Given the description of an element on the screen output the (x, y) to click on. 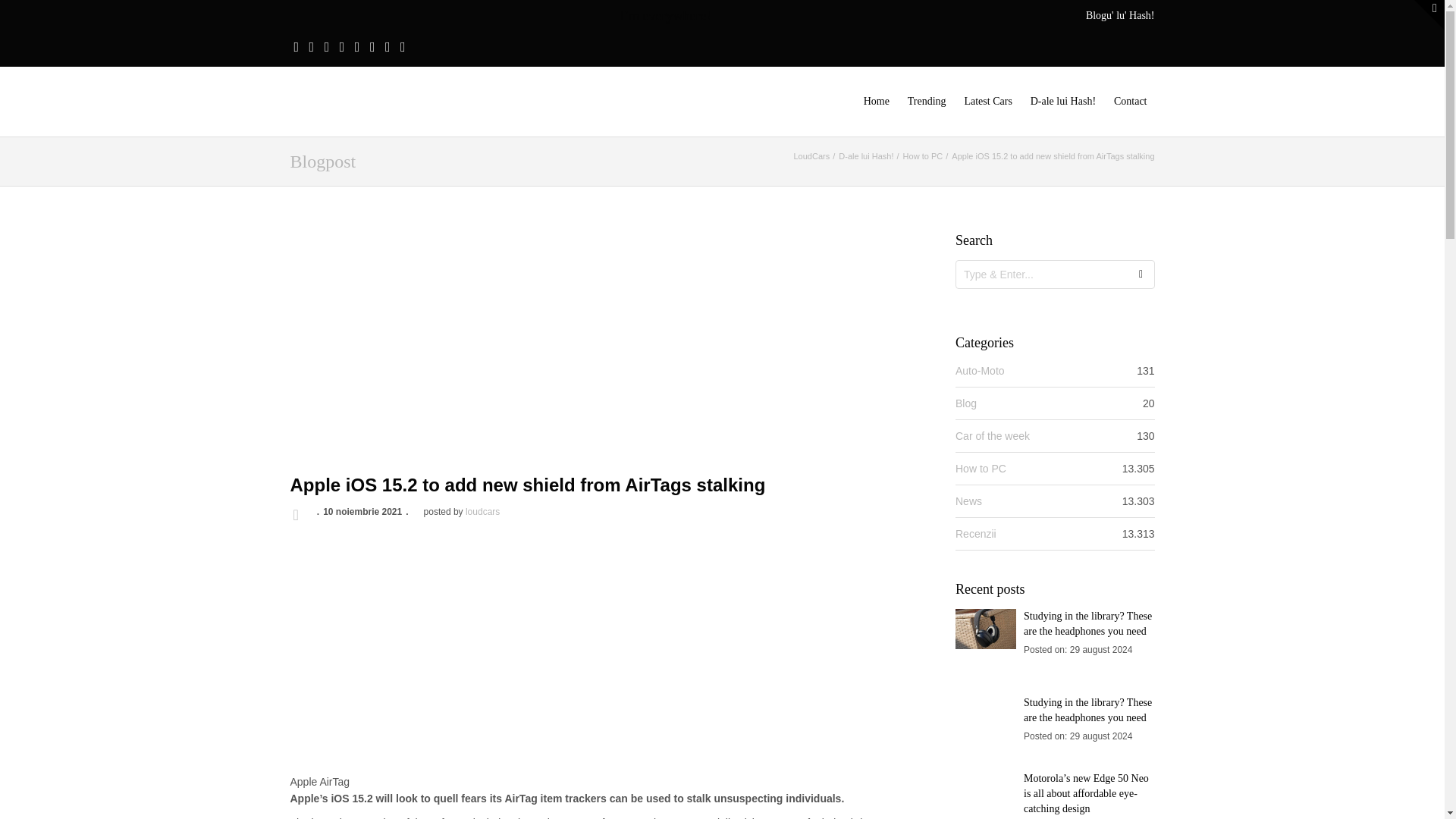
How to PC (922, 155)
loudcars (482, 511)
D-ale lui Hash! (865, 155)
Contact (1130, 101)
Go to LoudCars. (811, 155)
Home (876, 101)
D-ale lui Hash! (1063, 101)
Trending (926, 101)
LoudCars (811, 155)
Latest Cars (987, 101)
